Given the description of an element on the screen output the (x, y) to click on. 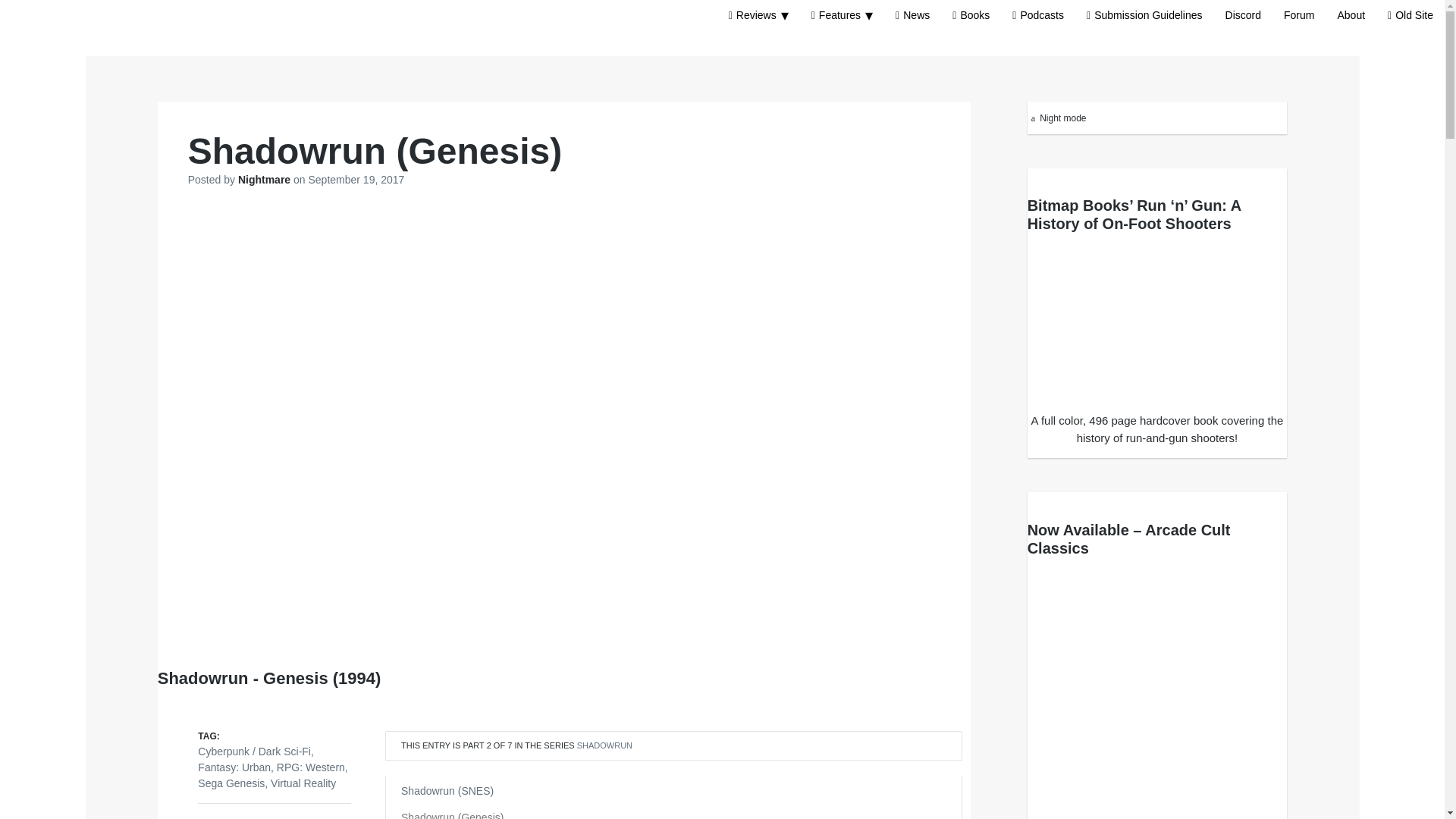
SHADOWRUN (603, 745)
Nightmare (266, 179)
Shadowrun (603, 745)
